Given the description of an element on the screen output the (x, y) to click on. 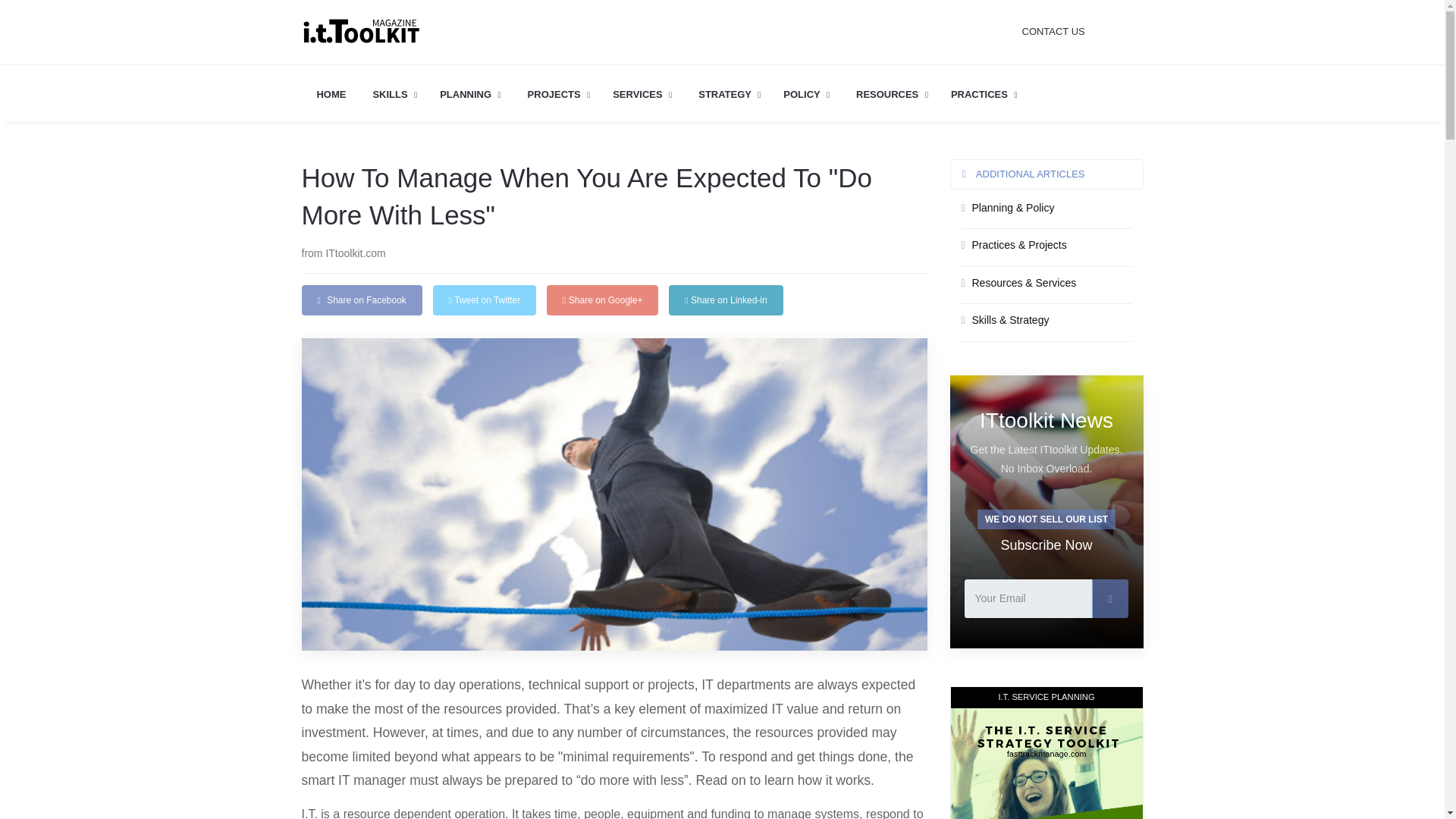
Click to Expand (729, 94)
SKILLS (394, 94)
Click to Expand (892, 94)
Click to Expand (394, 94)
PROJECTS (559, 94)
HOME (330, 94)
Click to Expand (641, 94)
CONTACT US (1082, 31)
SERVICES (641, 94)
PLANNING (469, 94)
Click to Expand (469, 94)
Click to Expand (559, 94)
Click to Expand (806, 94)
Click to Expand (983, 94)
